Given the description of an element on the screen output the (x, y) to click on. 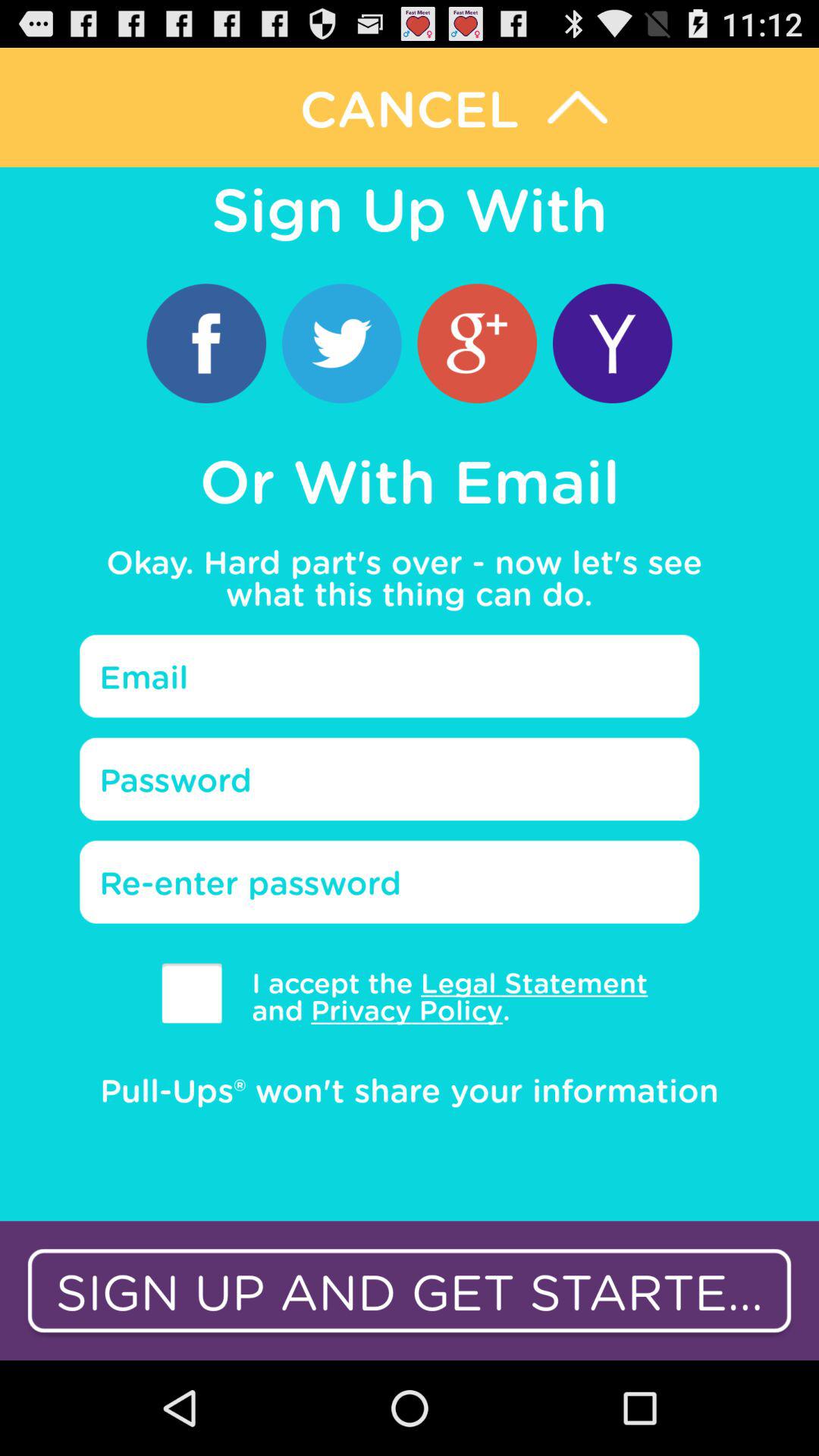
login with fb (206, 343)
